Given the description of an element on the screen output the (x, y) to click on. 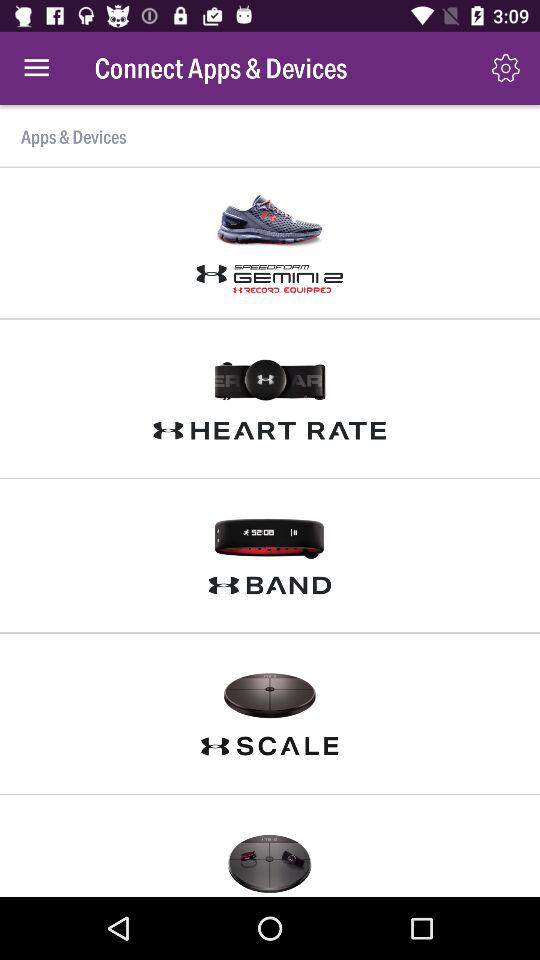
click icon above the apps & devices icon (36, 68)
